Given the description of an element on the screen output the (x, y) to click on. 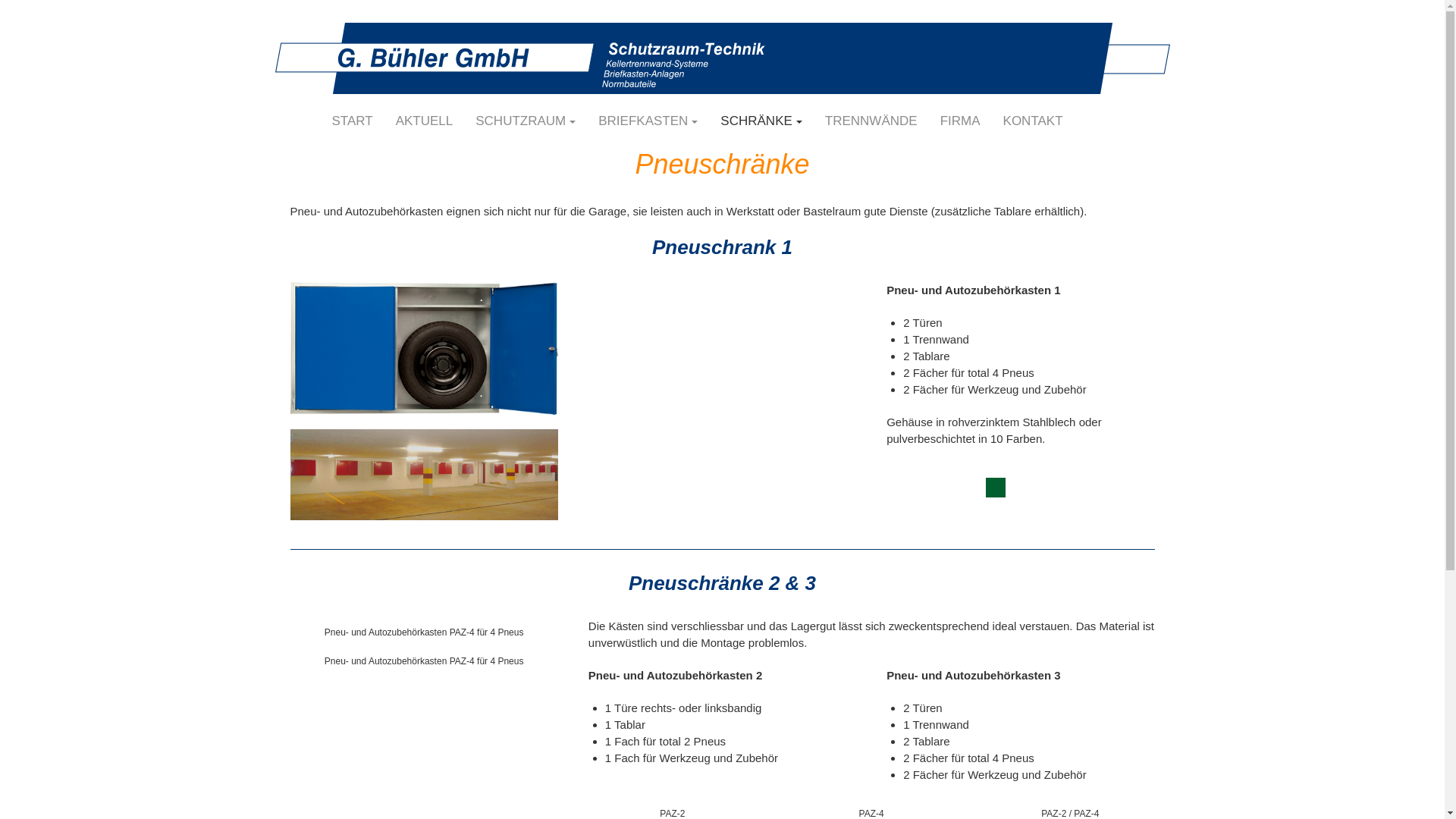
RAL 3000 Element type: hover (1044, 463)
BRIEFKASTEN Element type: text (647, 121)
NCS-S 1060-Y40R Element type: hover (1095, 463)
FIRMA Element type: text (959, 121)
PAZ-2: Aussenmasse 78,5 x 100 x 50 cm Element type: hover (671, 799)
RAL 9006 Element type: hover (945, 463)
RAL 5015 Element type: hover (895, 477)
RAL 5010 Element type: hover (945, 477)
PAZ-2 / PAZ-4: Tiefe 50 cm Element type: hover (1070, 799)
RAL 9010 Element type: hover (995, 463)
RAL 7035 Element type: hover (1044, 477)
START Element type: text (351, 121)
AKTUELL Element type: text (424, 121)
Anthrazit eisenglimmer Element type: hover (895, 463)
PAZ-4: Aussenmasse 150 x 100 x 50 cm Element type: hover (871, 799)
KONTAKT Element type: text (1032, 121)
SCHUTZRAUM Element type: text (525, 121)
NCS-S 6030-B70G Element type: hover (995, 487)
NCS-S 0540-Y10R Element type: hover (1144, 463)
